Given the description of an element on the screen output the (x, y) to click on. 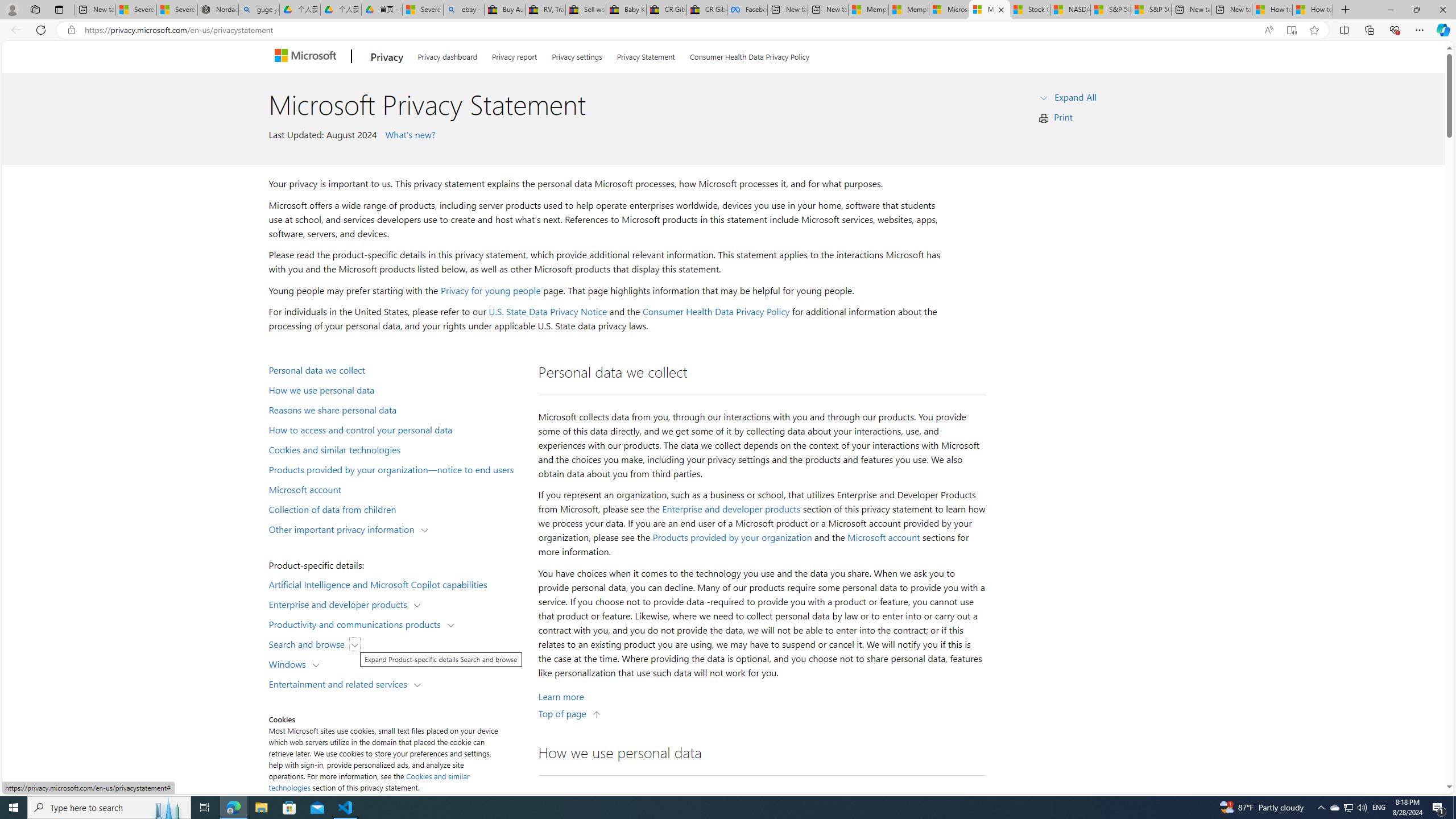
Microsoft account (883, 537)
Other important privacy information (343, 528)
Privacy settings (577, 54)
Artificial Intelligence and Microsoft Copilot capabilities (395, 583)
Collection of data from children (395, 508)
Learn More about Personal data we collect (560, 696)
Privacy (386, 56)
 What's new? (408, 133)
